Given the description of an element on the screen output the (x, y) to click on. 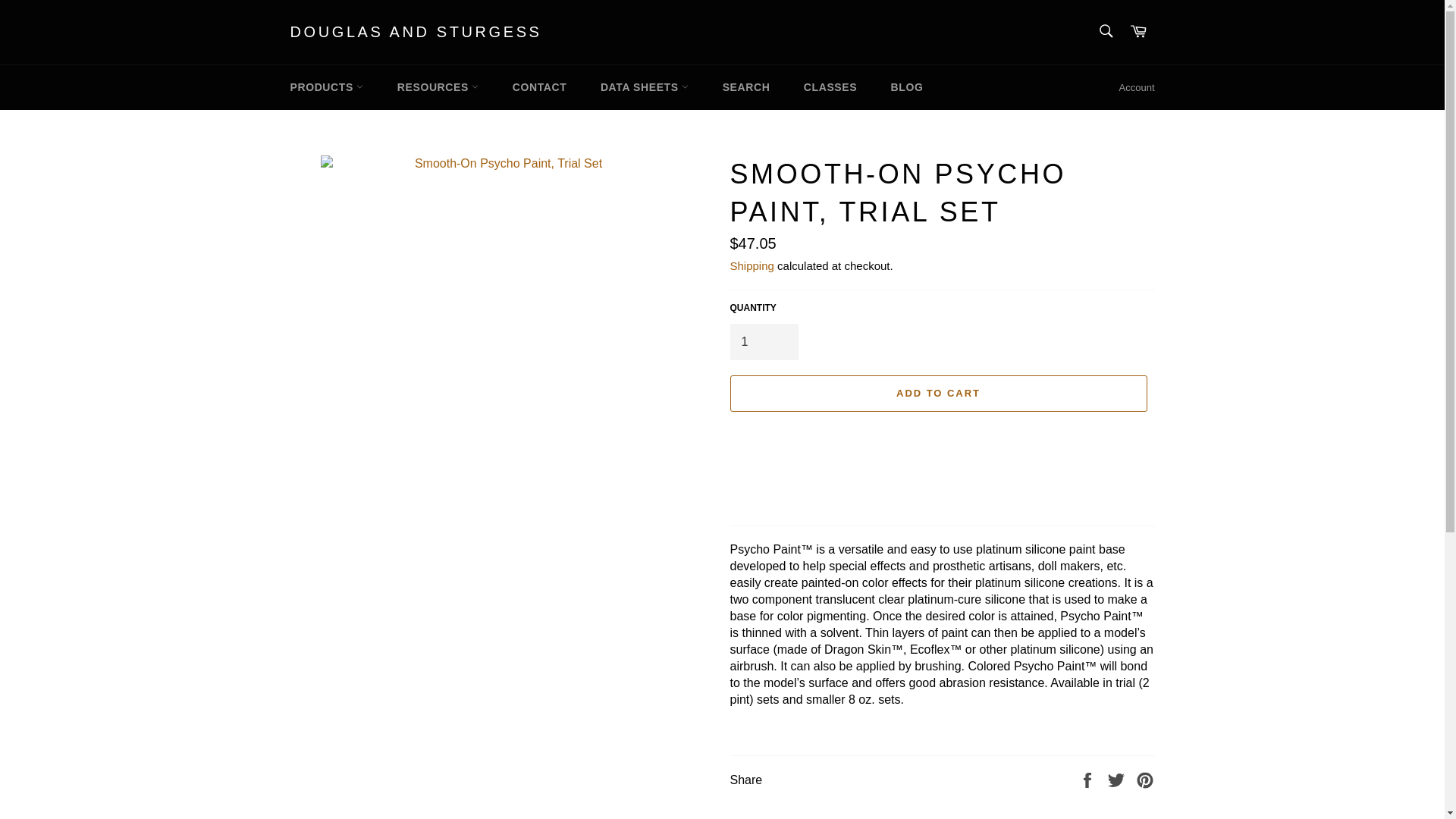
Share on Facebook (1088, 779)
Pin on Pinterest (1144, 779)
Tweet on Twitter (1117, 779)
1 (763, 341)
